Given the description of an element on the screen output the (x, y) to click on. 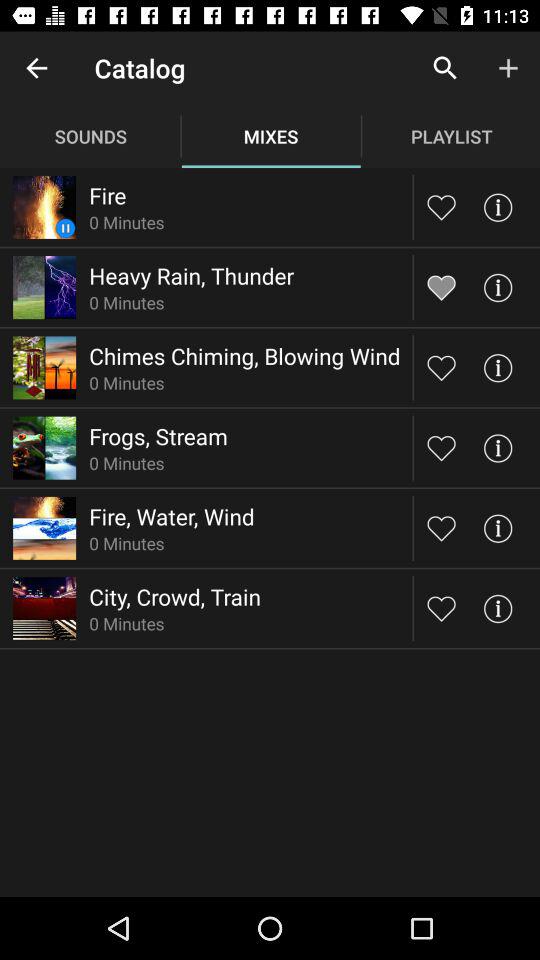
save to favorite (441, 608)
